Given the description of an element on the screen output the (x, y) to click on. 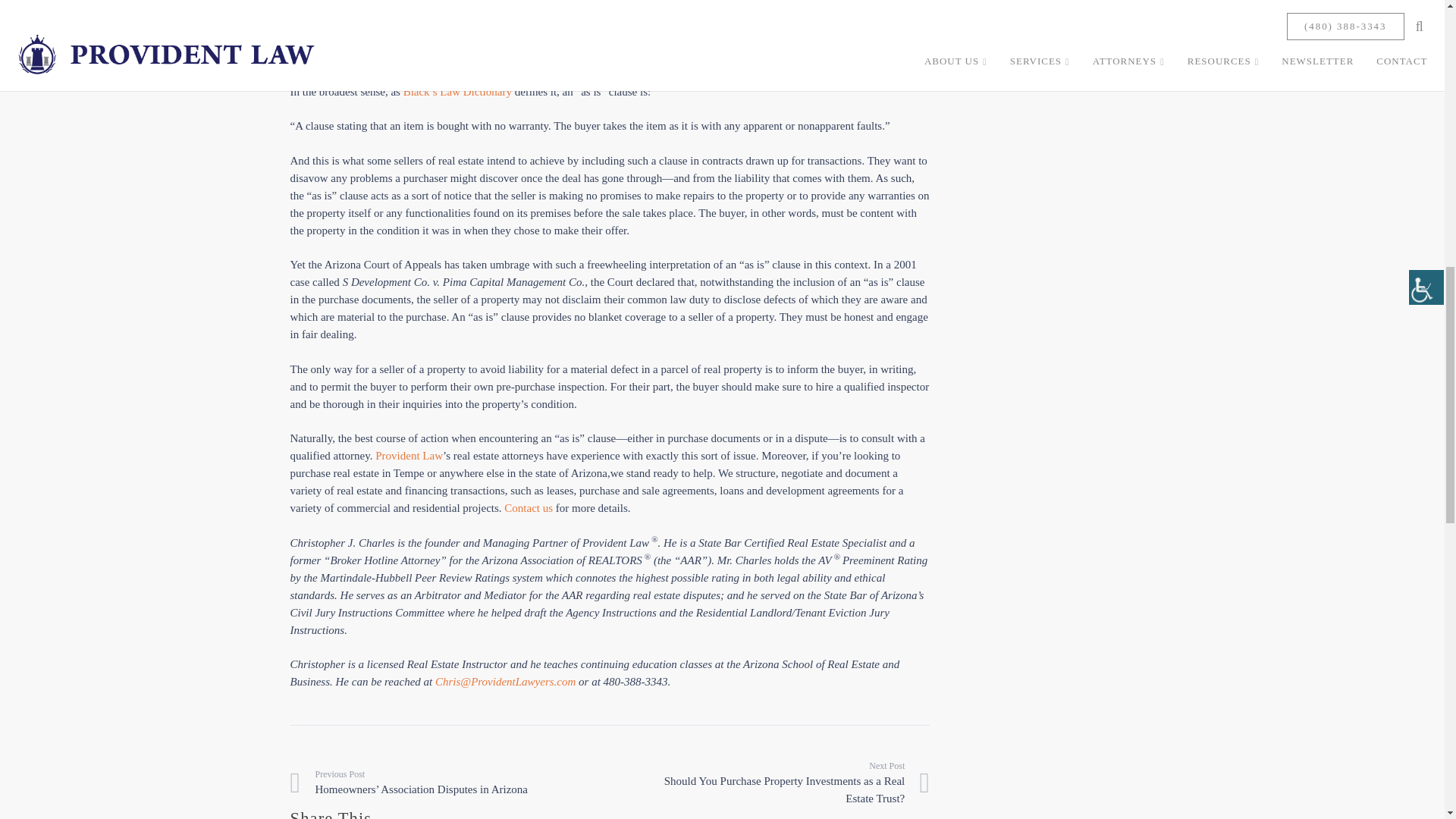
Back to top (1419, 31)
